Given the description of an element on the screen output the (x, y) to click on. 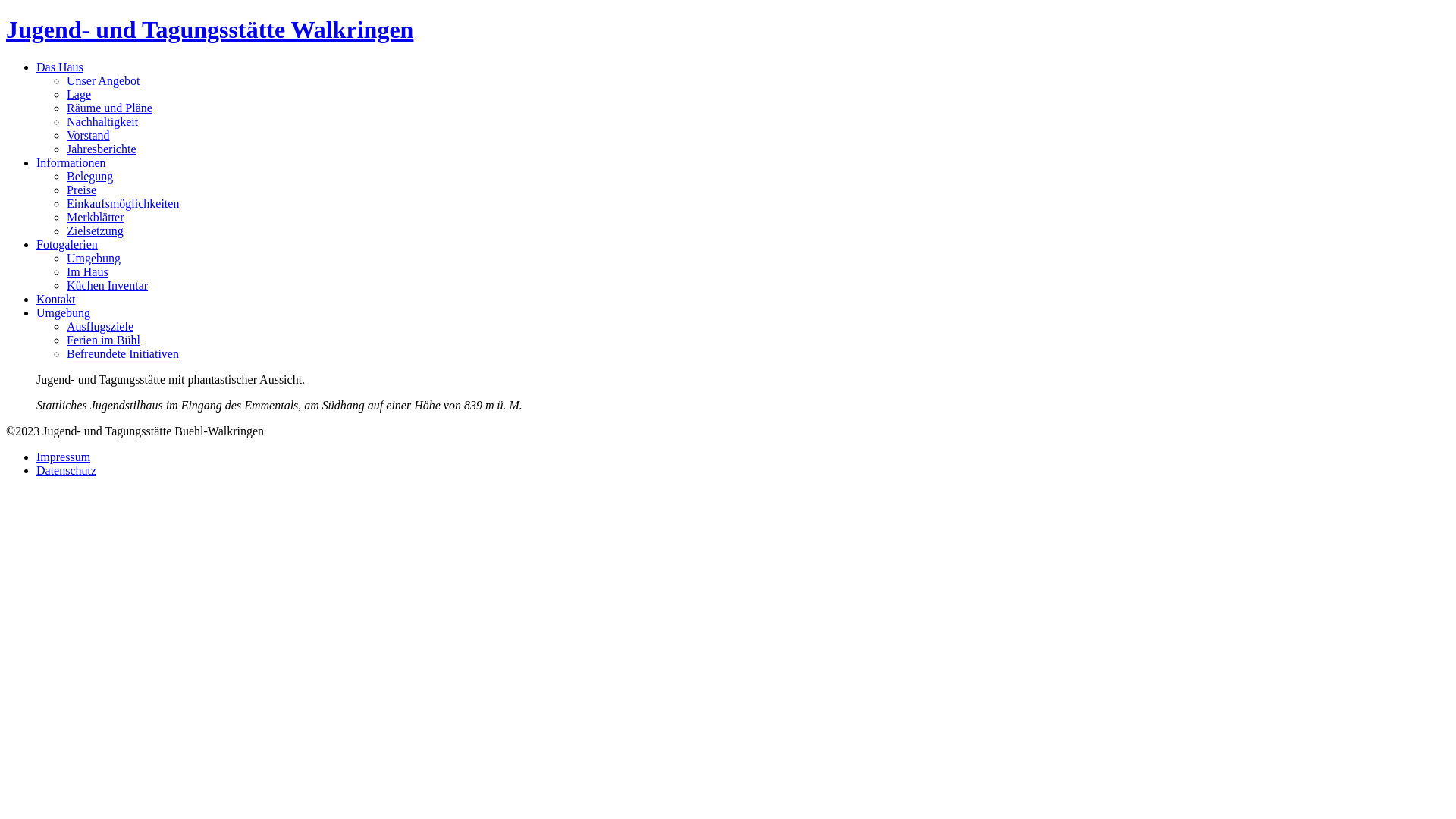
Im Haus Element type: text (87, 271)
Vorstand Element type: text (87, 134)
Fotogalerien Element type: text (66, 244)
Umgebung Element type: text (93, 257)
Datenschutz Element type: text (66, 470)
Informationen Element type: text (71, 162)
Preise Element type: text (81, 189)
Befreundete Initiativen Element type: text (122, 353)
Jahresberichte Element type: text (101, 148)
Lage Element type: text (78, 93)
Umgebung Element type: text (63, 312)
Das Haus Element type: text (59, 66)
Kontakt Element type: text (55, 298)
Zielsetzung Element type: text (94, 230)
Ausflugsziele Element type: text (99, 326)
Belegung Element type: text (89, 175)
Impressum Element type: text (63, 456)
Unser Angebot Element type: text (102, 80)
Nachhaltigkeit Element type: text (102, 121)
